Given the description of an element on the screen output the (x, y) to click on. 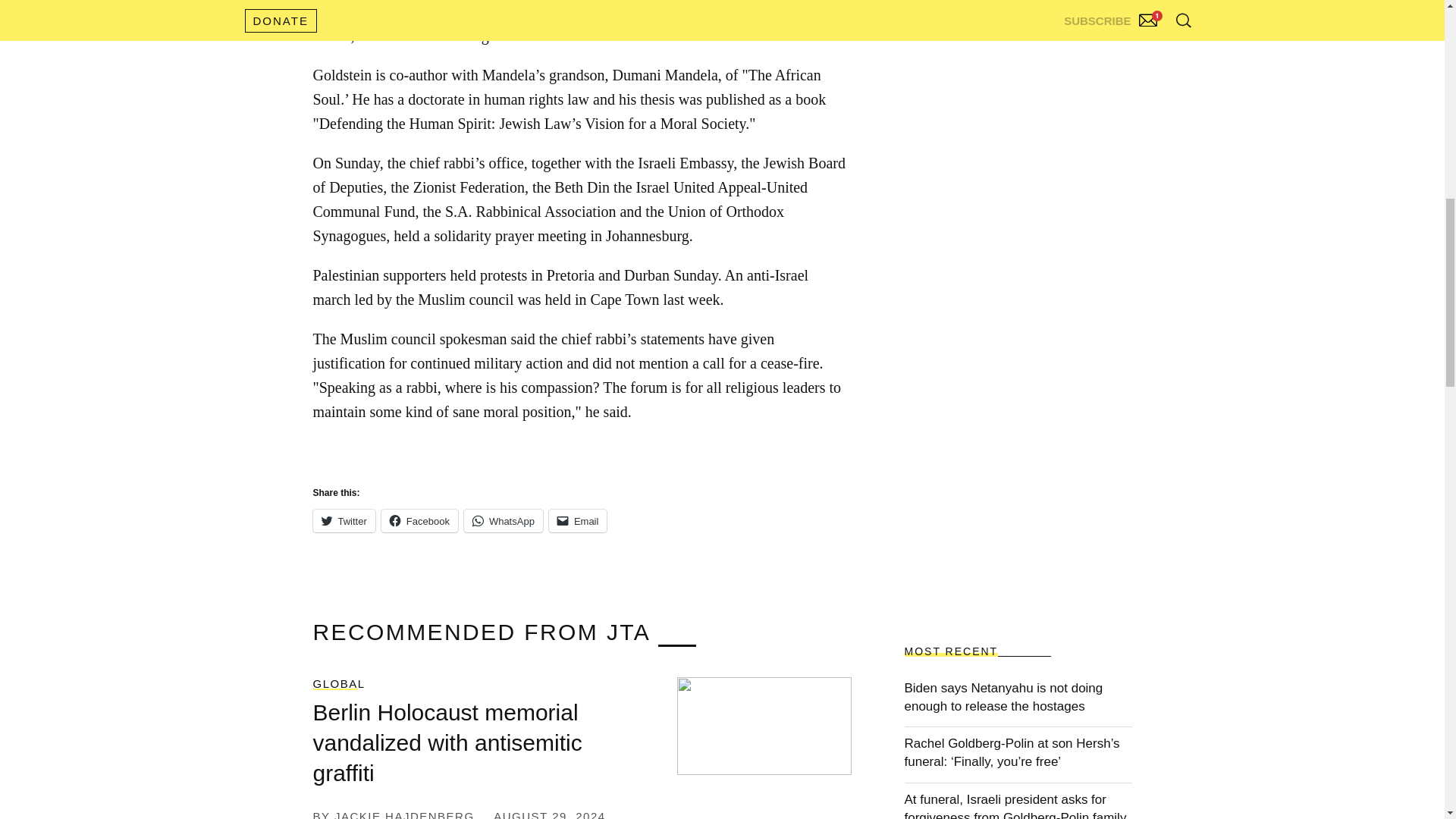
Click to share on Facebook (419, 520)
Click to email a link to a friend (577, 520)
Click to share on Twitter (343, 520)
Click to share on WhatsApp (503, 520)
